Given the description of an element on the screen output the (x, y) to click on. 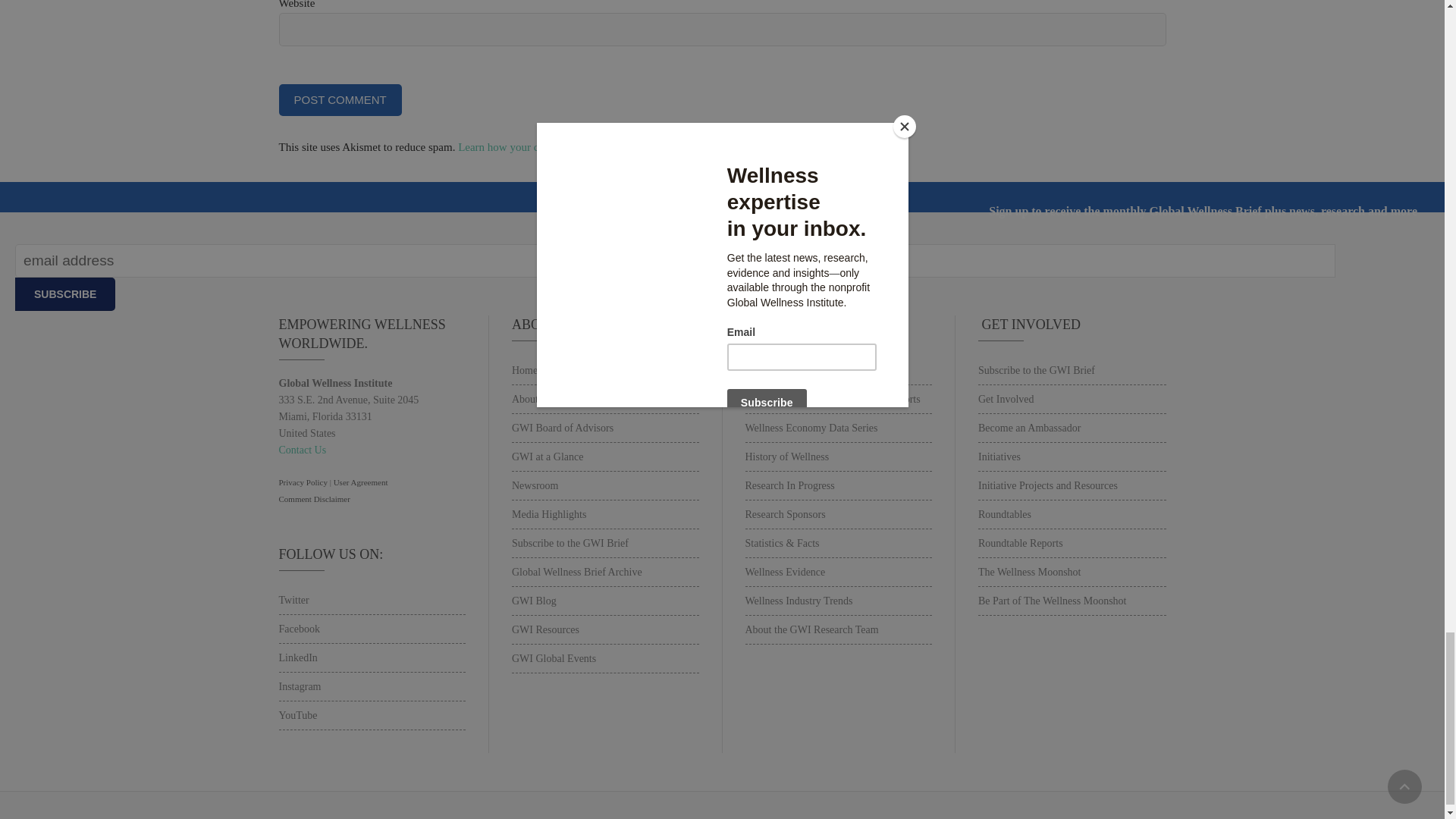
Post Comment (340, 100)
